Given the description of an element on the screen output the (x, y) to click on. 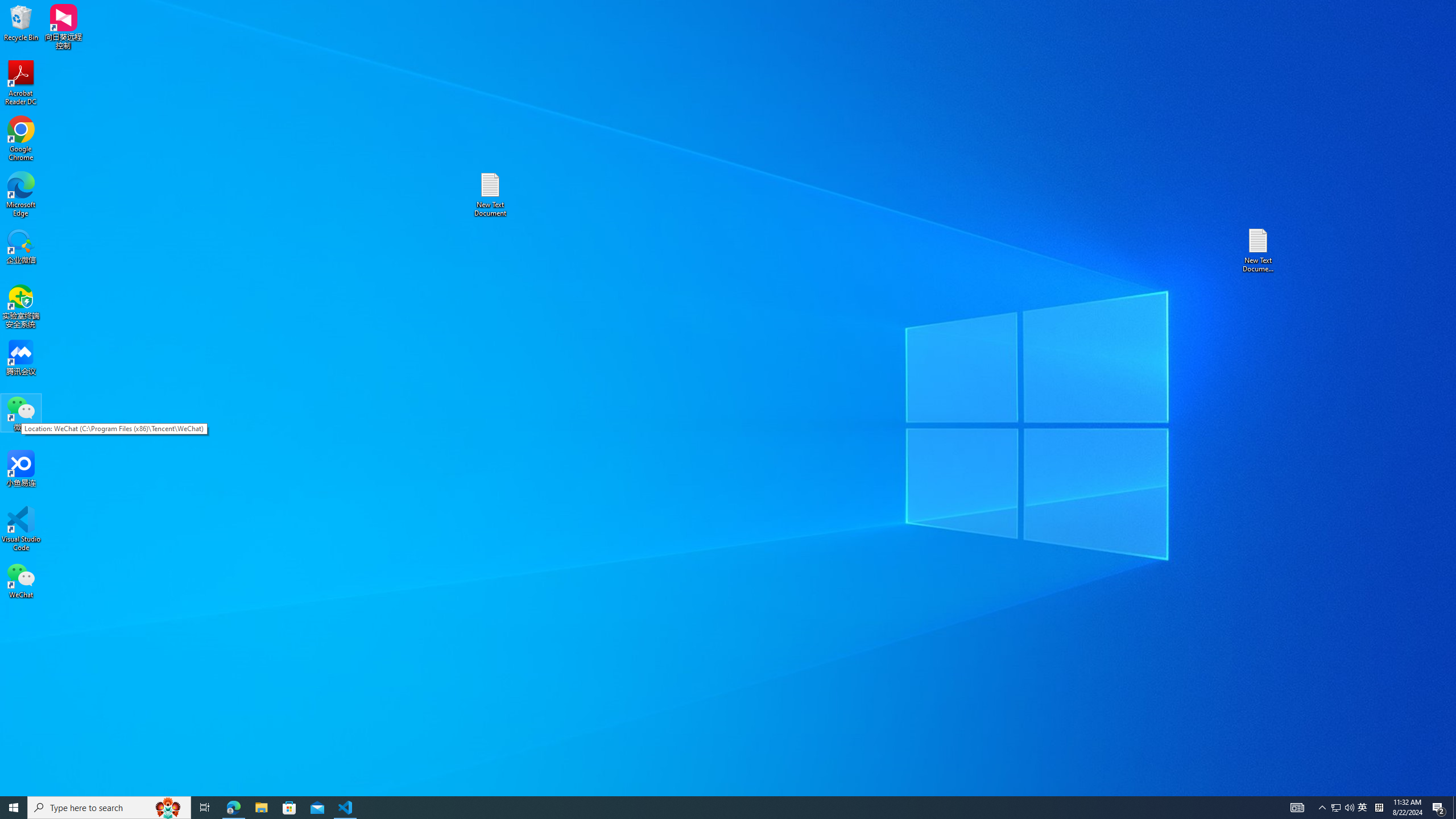
Microsoft Edge - 1 running window (233, 807)
Acrobat Reader DC (21, 82)
Google Chrome (21, 138)
Visual Studio Code (21, 528)
Running applications (707, 807)
New Text Document (2) (1362, 807)
